Given the description of an element on the screen output the (x, y) to click on. 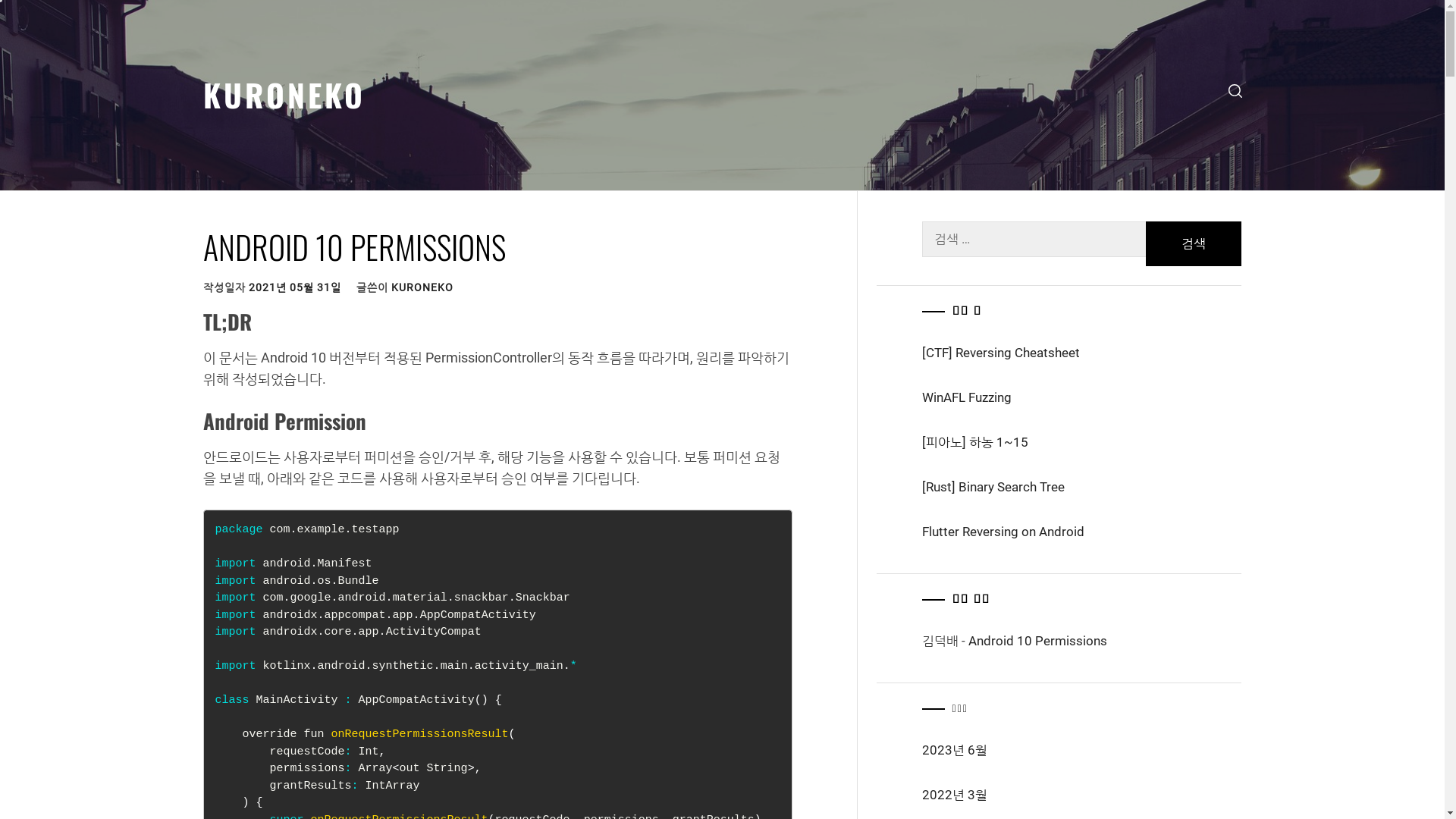
KURONEKO Element type: text (284, 94)
WinAFL Fuzzing Element type: text (1082, 397)
Android 10 Permissions Element type: text (1037, 640)
[CTF] Reversing Cheatsheet Element type: text (1082, 352)
[Rust] Binary Search Tree Element type: text (1082, 486)
Flutter Reversing on Android Element type: text (1082, 531)
KURONEKO Element type: text (422, 287)
